Given the description of an element on the screen output the (x, y) to click on. 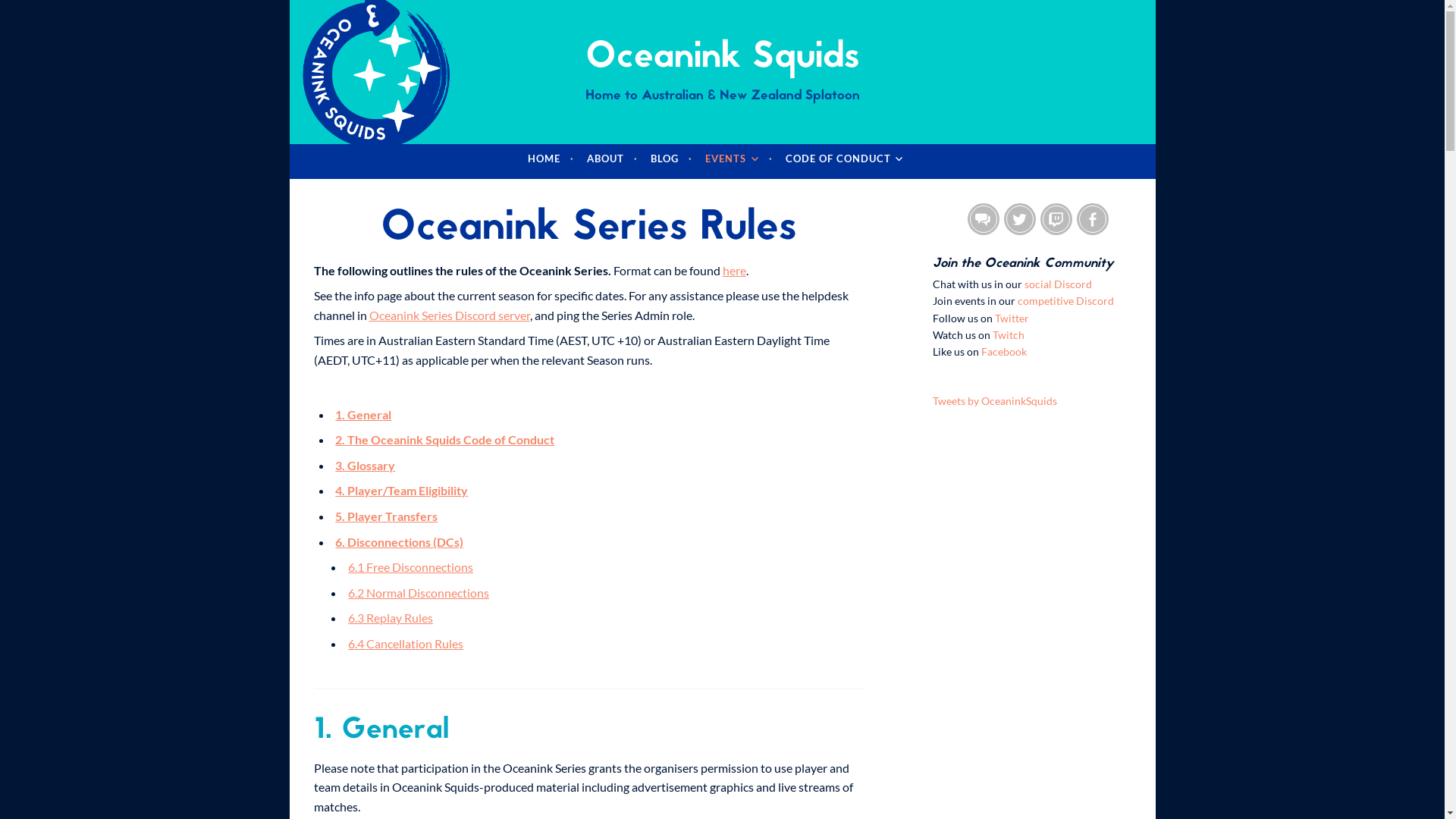
5. Player Transfers Element type: text (386, 515)
Twitch Element type: text (1008, 334)
Twitter Element type: text (1011, 317)
6.1 Free Disconnections Element type: text (410, 566)
Discord Community Element type: text (983, 219)
Oceanink Series Discord server Element type: text (448, 314)
1. General Element type: text (363, 414)
BLOG Element type: text (671, 159)
Twitter Element type: text (1019, 219)
Twitch Element type: text (1056, 219)
3. Glossary Element type: text (365, 465)
here Element type: text (733, 270)
CODE OF CONDUCT Element type: text (850, 159)
EVENTS Element type: text (738, 159)
2. The Oceanink Squids Code of Conduct Element type: text (444, 439)
4. Player/Team Eligibility Element type: text (401, 490)
6. Disconnections (DCs) Element type: text (399, 541)
social Discord Element type: text (1058, 283)
Facebook Element type: text (1003, 351)
Facebook Element type: text (1092, 219)
ABOUT Element type: text (611, 159)
6.2 Normal Disconnections Element type: text (418, 592)
6.3 Replay Rules Element type: text (390, 617)
competitive Discord Element type: text (1065, 300)
6.4 Cancellation Rules Element type: text (405, 643)
HOME Element type: text (550, 159)
Tweets by OceaninkSquids Element type: text (994, 400)
Oceanink Squids Element type: text (722, 57)
